Given the description of an element on the screen output the (x, y) to click on. 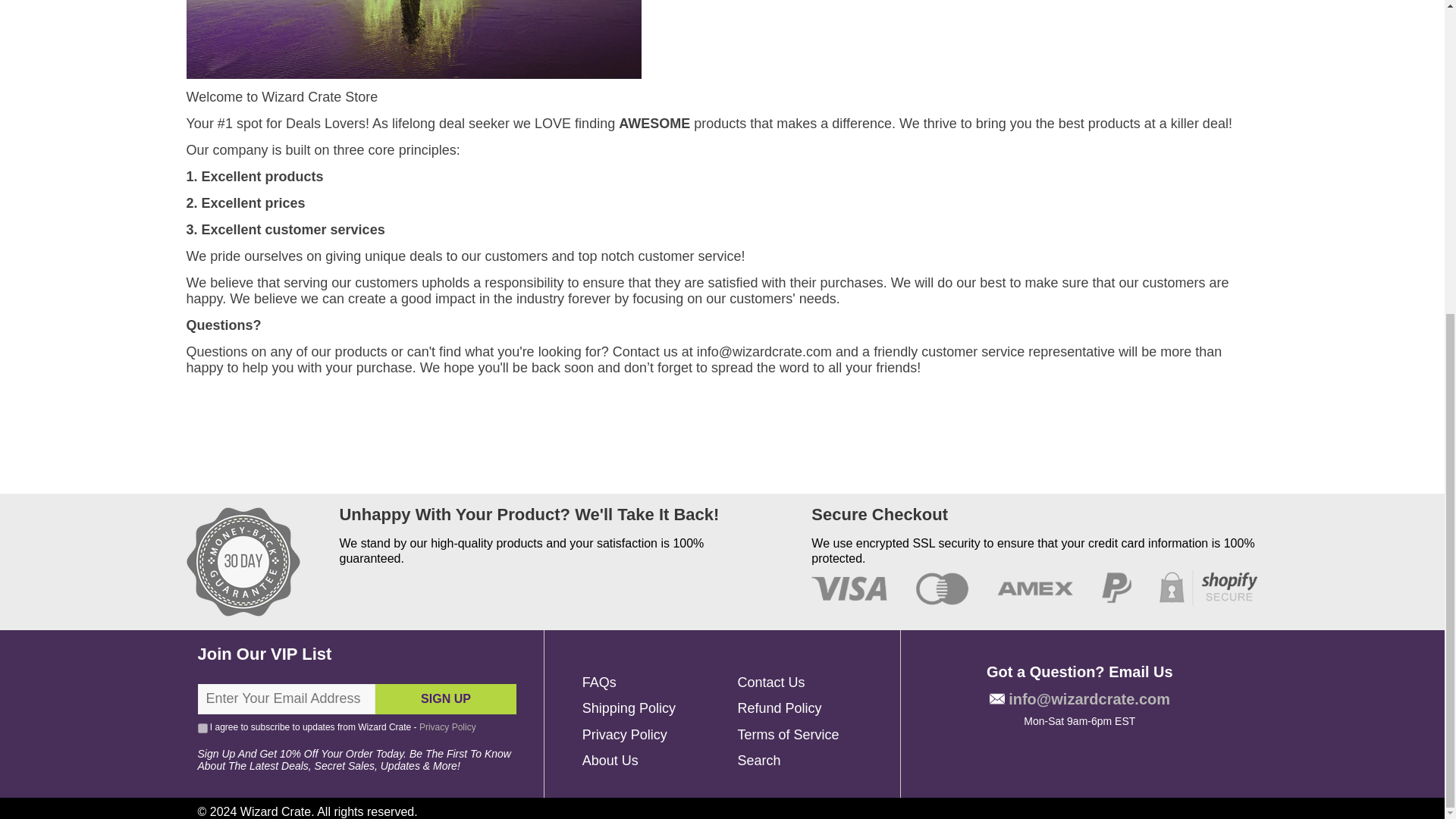
on (201, 728)
